Given the description of an element on the screen output the (x, y) to click on. 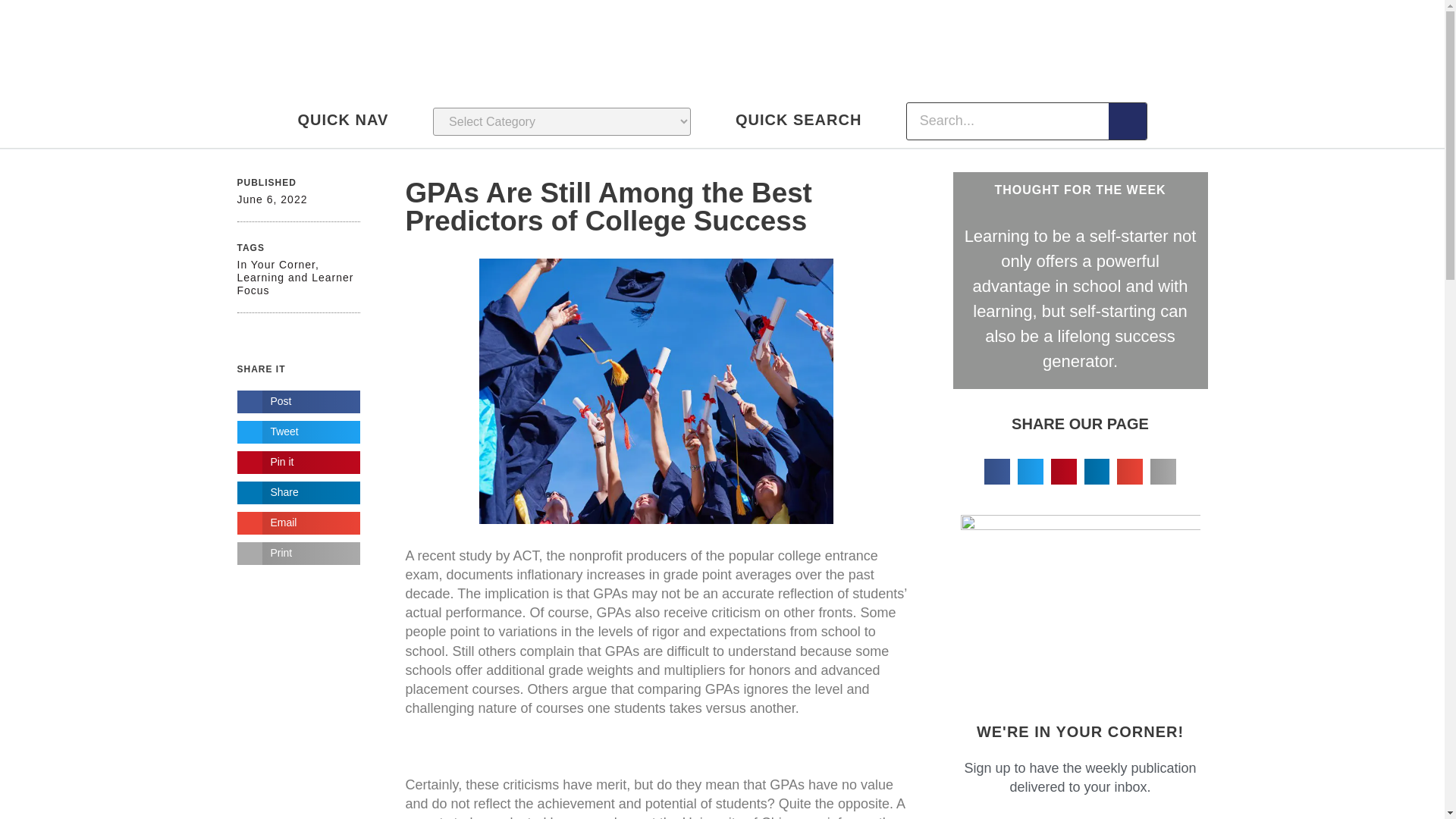
In Your Corner (275, 264)
Learning and Learner Focus (294, 283)
June 6, 2022 (271, 199)
GPAs Are Still Among the Best Predictors of College Success (607, 206)
